Given the description of an element on the screen output the (x, y) to click on. 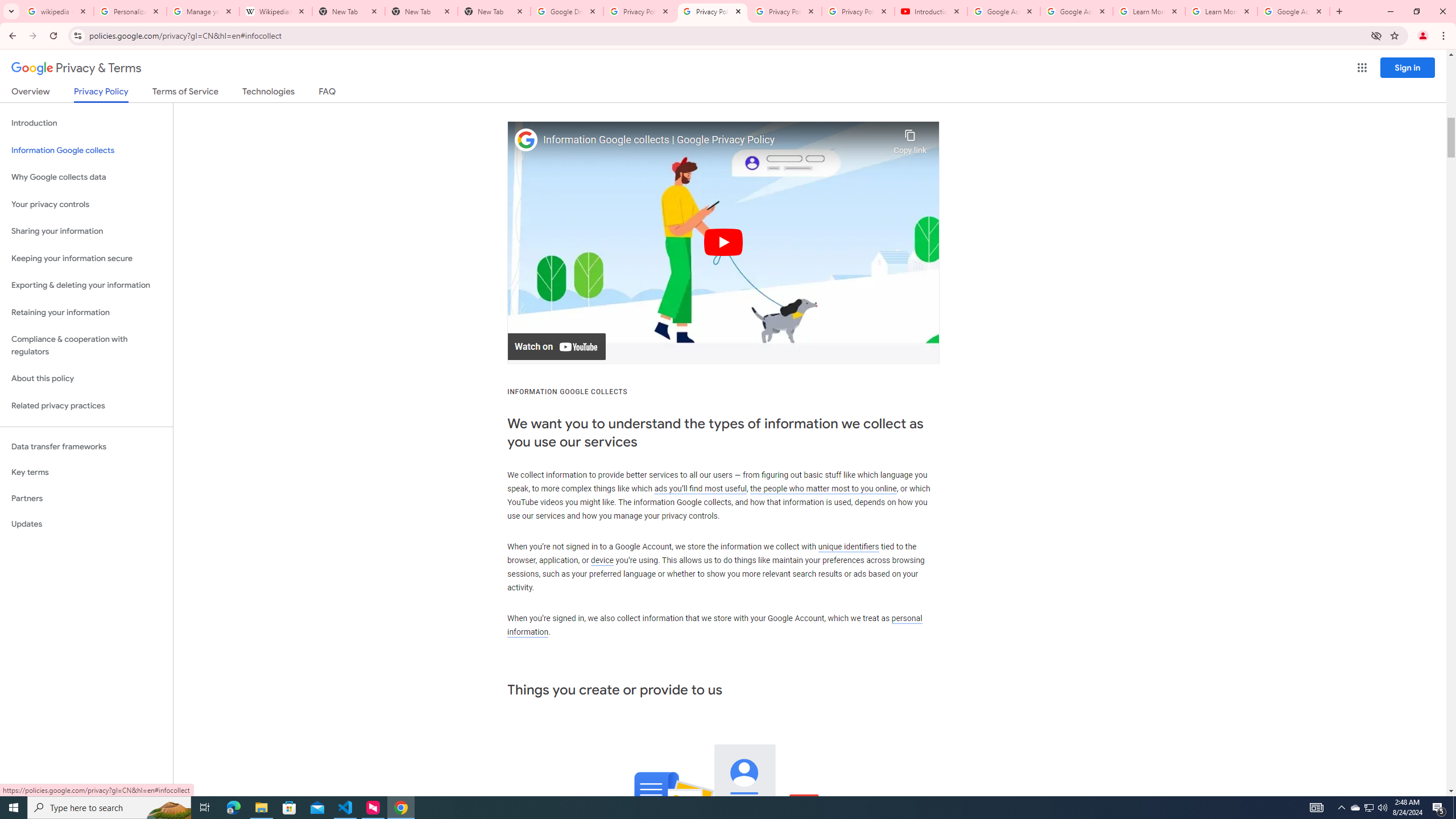
Information Google collects (86, 150)
Related privacy practices (86, 405)
Why Google collects data (86, 176)
Copy link (909, 139)
